Given the description of an element on the screen output the (x, y) to click on. 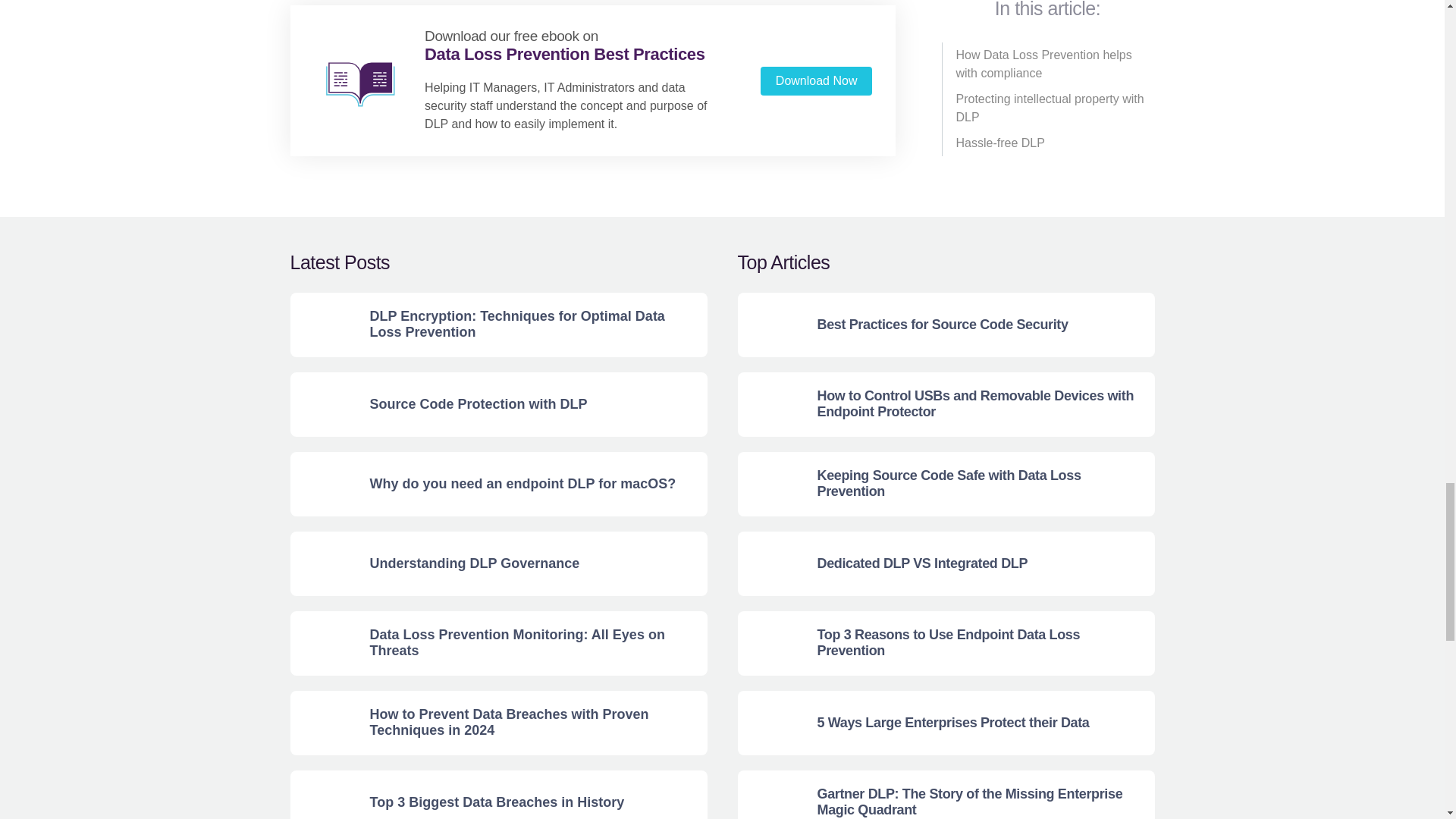
Best Practices for Source Code Security (769, 324)
Source Code Protection with DLP (321, 404)
Keeping Source Code Safe with Data Loss Prevention (769, 484)
Why do you need an endpoint DLP for macOS? (321, 484)
How to Prevent Data Breaches with Proven Techniques in 2024 (321, 723)
Understanding DLP Governance (321, 563)
Dedicated DLP VS Integrated DLP (769, 563)
Top 3 Reasons to Use Endpoint Data Loss Prevention (769, 642)
5 Ways Large Enterprises Protect their Data (769, 723)
Data Loss Prevention Monitoring: All Eyes on Threats (321, 642)
DLP Encryption: Techniques for Optimal Data Loss Prevention (321, 324)
Top 3 Biggest Data Breaches in History (321, 794)
